Given the description of an element on the screen output the (x, y) to click on. 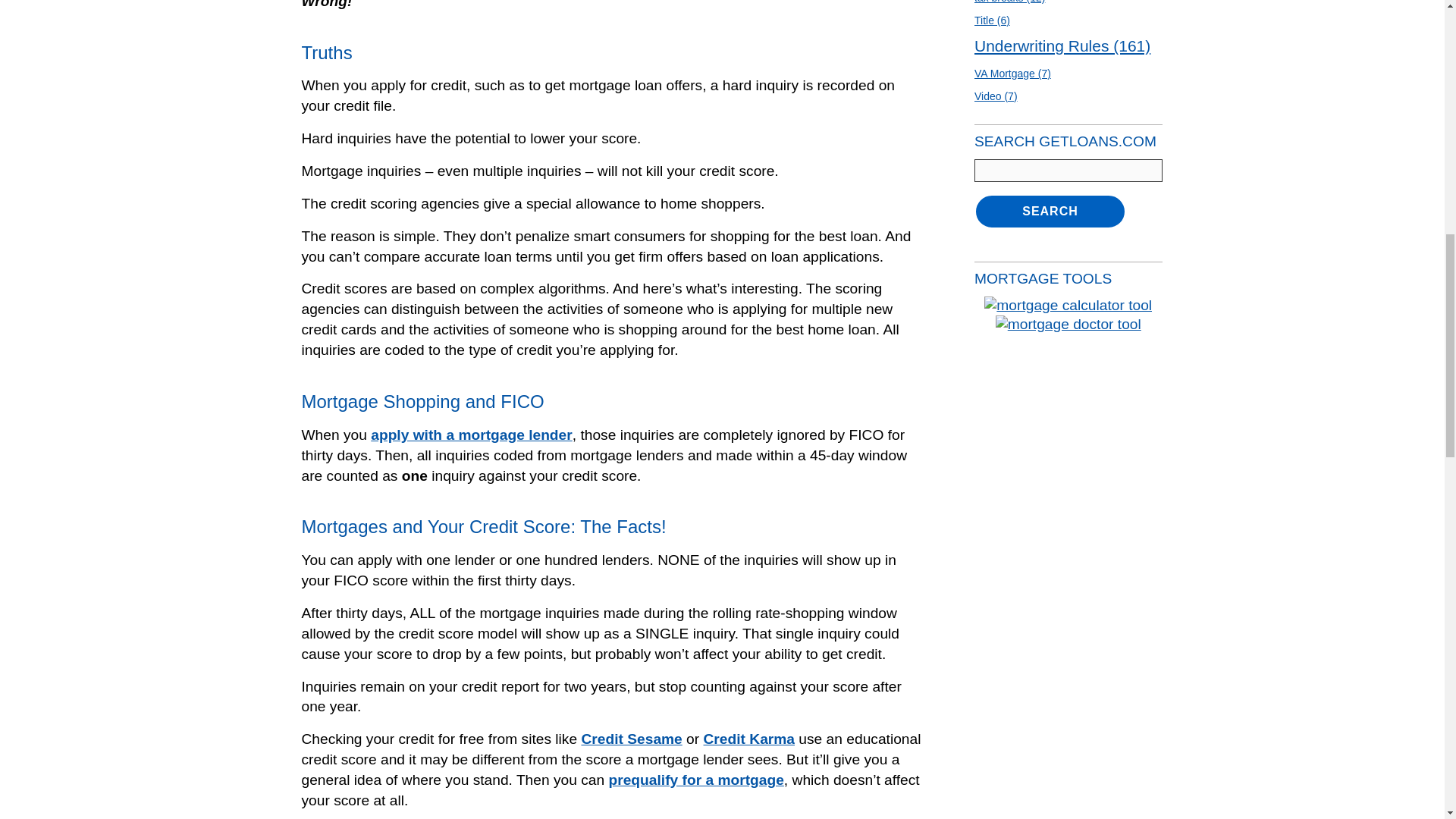
Search (1049, 211)
Credit Sesame (630, 738)
apply with a mortgage lender (471, 434)
